Given the description of an element on the screen output the (x, y) to click on. 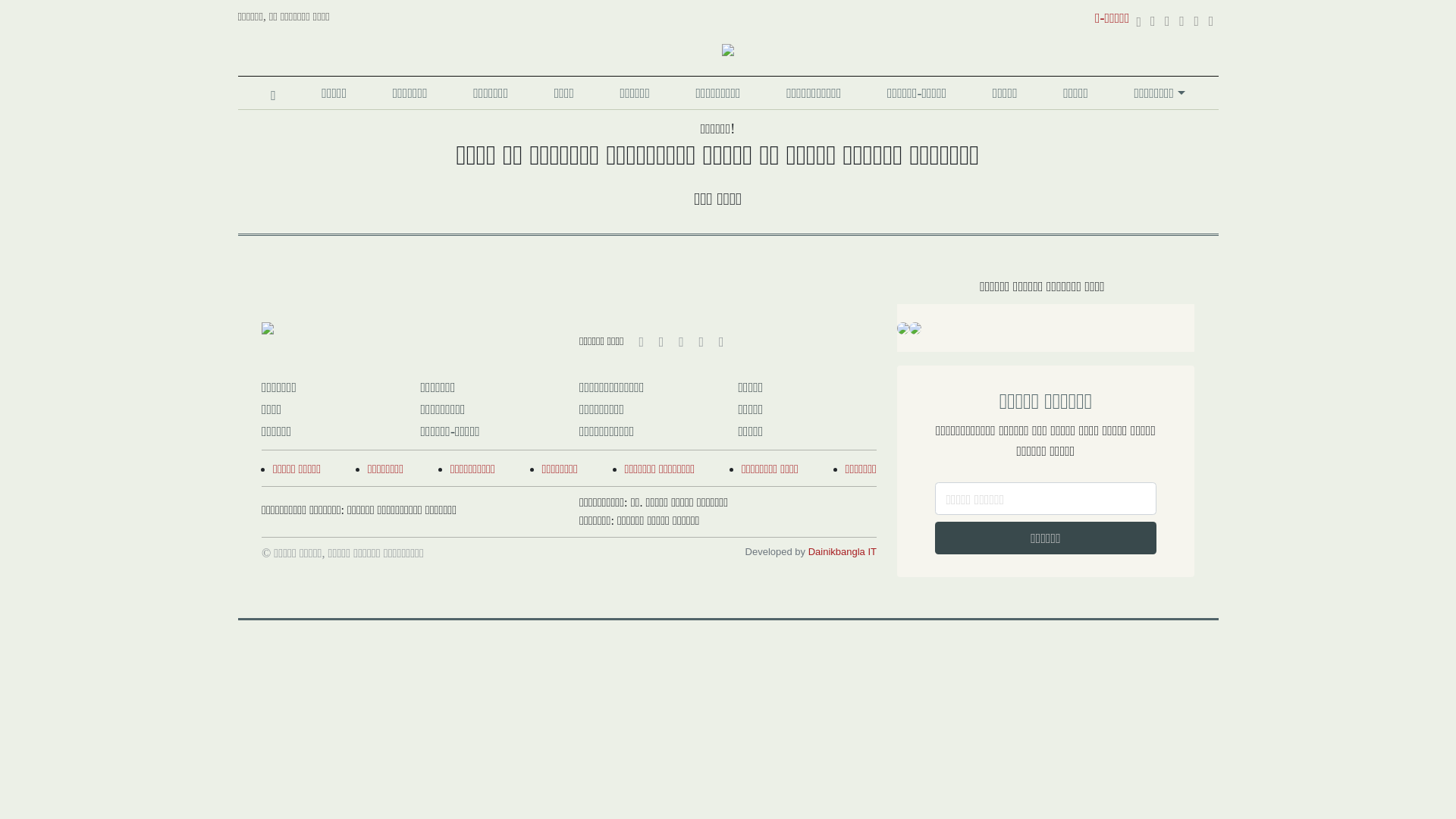
App Store Element type: hover (915, 327)
Dainikbangla IT Element type: text (842, 551)
Google Play Store Element type: hover (903, 327)
